Given the description of an element on the screen output the (x, y) to click on. 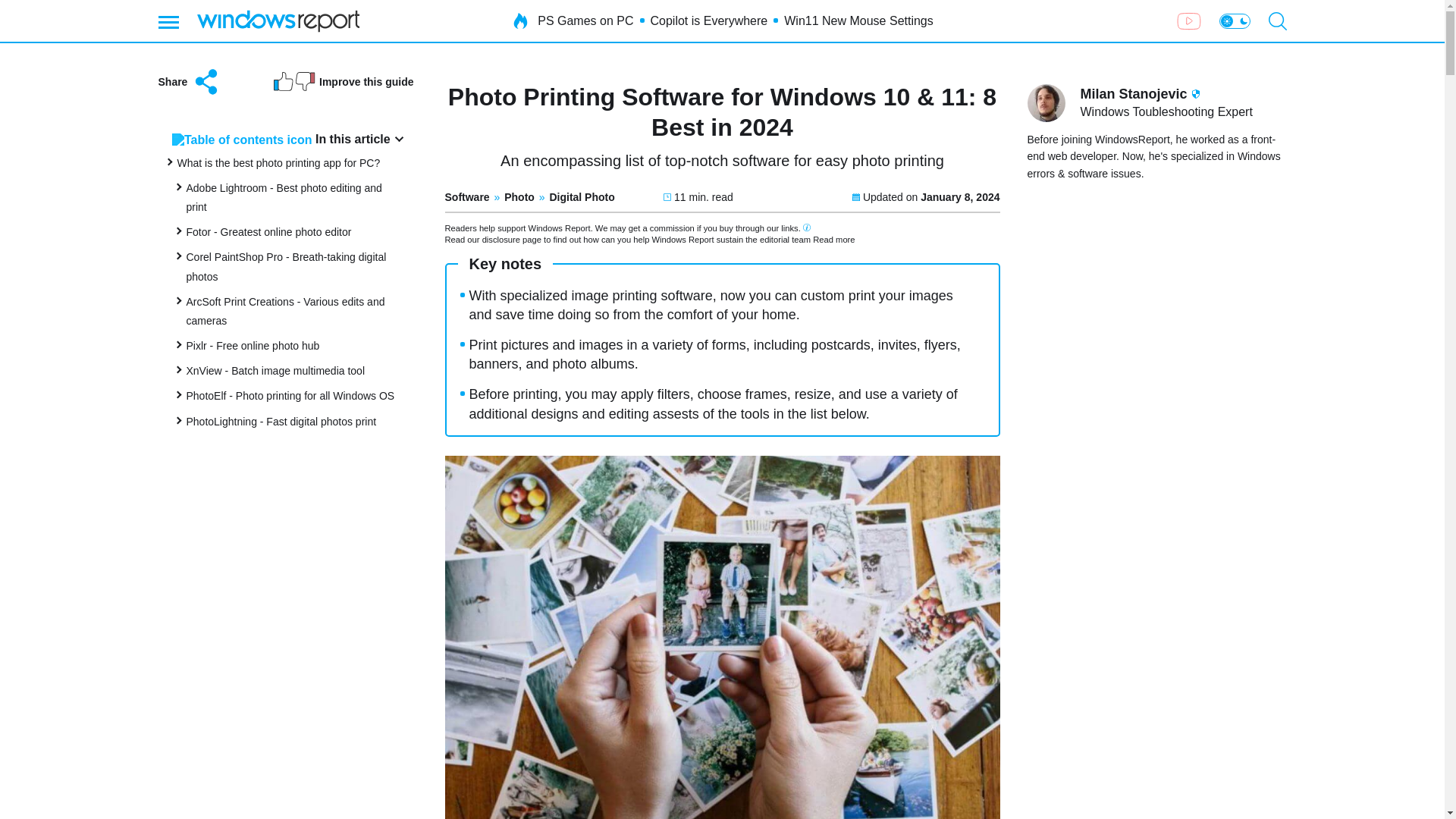
PS Games on PC (585, 21)
Adobe Lightroom - Best photo editing and print (283, 196)
Share this article (189, 81)
Corel PaintShop Pro - Breath-taking digital photos (286, 265)
What is the best photo printing app for PC? (278, 162)
Fotor - Greatest online photo editor (269, 232)
Share (189, 81)
ArcSoft Print Creations - Various edits and cameras (285, 310)
Pixlr - Free online photo hub (253, 345)
Open search bar (1276, 21)
